Given the description of an element on the screen output the (x, y) to click on. 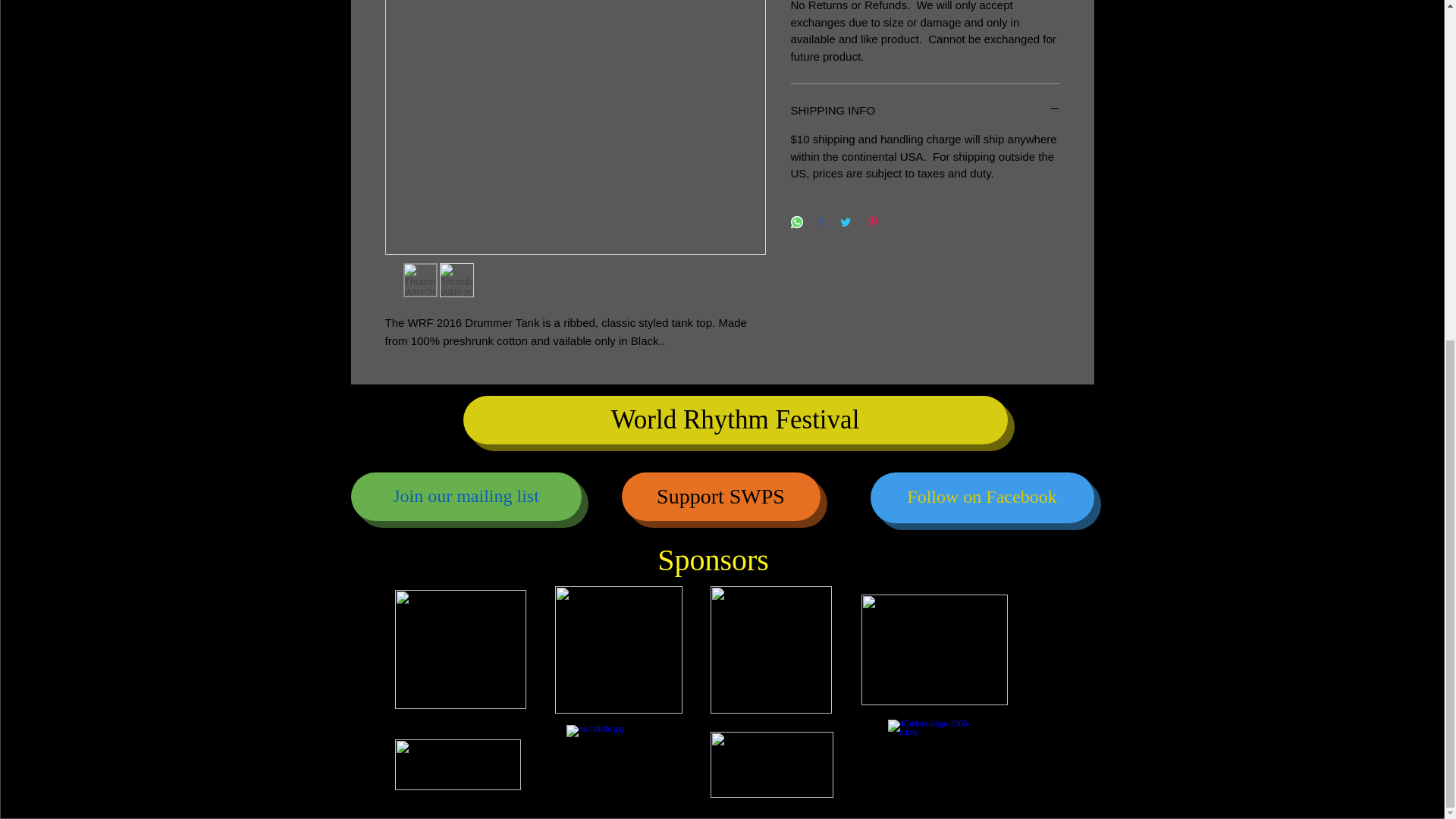
Support SWPS (721, 496)
Join our mailing list (465, 496)
SHIPPING INFO (924, 109)
Follow on Facebook (982, 497)
Wix.com (561, 807)
2018-Square-Logo-with-url2.jpg (618, 649)
World Rhythm Festival (735, 419)
